Given the description of an element on the screen output the (x, y) to click on. 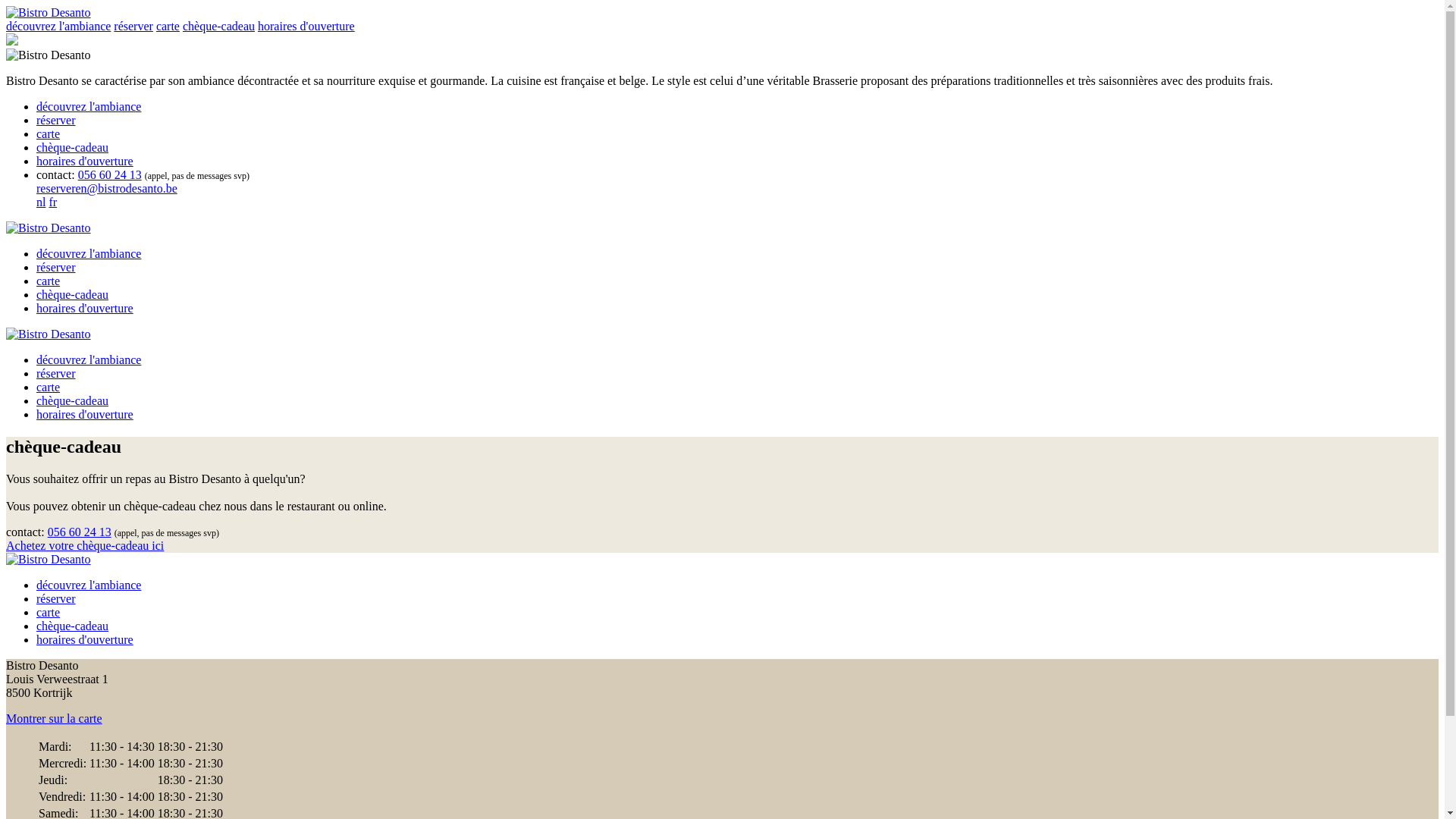
carte Element type: text (47, 280)
Bistro Desanto Element type: hover (48, 12)
carte Element type: text (167, 25)
056 60 24 13 Element type: text (109, 174)
horaires d'ouverture Element type: text (84, 639)
carte Element type: text (47, 386)
fr Element type: text (52, 201)
horaires d'ouverture Element type: text (305, 25)
056 60 24 13 Element type: text (79, 531)
carte Element type: text (47, 611)
horaires d'ouverture Element type: text (84, 160)
carte Element type: text (47, 133)
nl Element type: text (40, 201)
horaires d'ouverture Element type: text (84, 307)
Montrer sur la carte Element type: text (54, 718)
reserveren@bistrodesanto.be Element type: text (106, 188)
horaires d'ouverture Element type: text (84, 413)
